Given the description of an element on the screen output the (x, y) to click on. 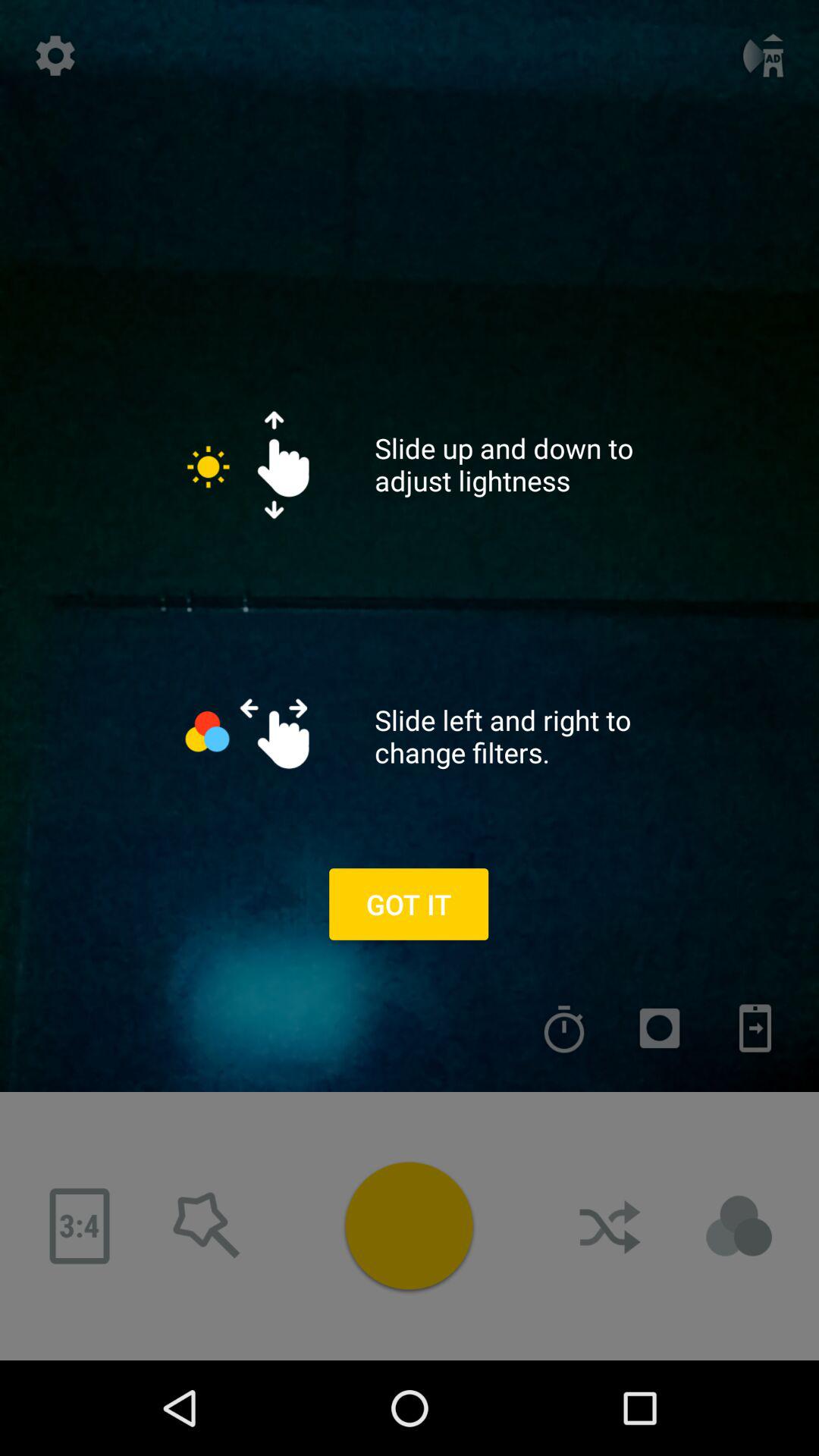
forward button (611, 1226)
